Given the description of an element on the screen output the (x, y) to click on. 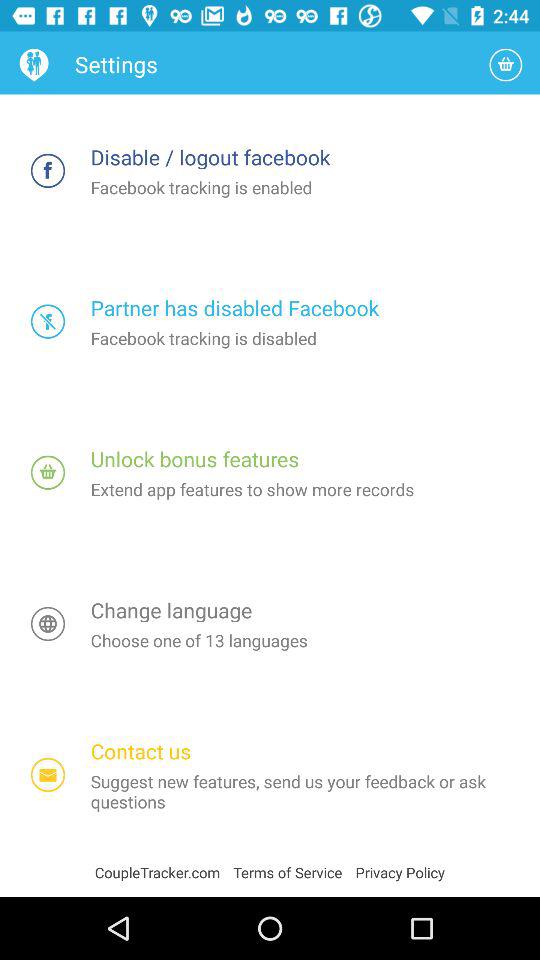
click icon next to contact us icon (47, 774)
